Given the description of an element on the screen output the (x, y) to click on. 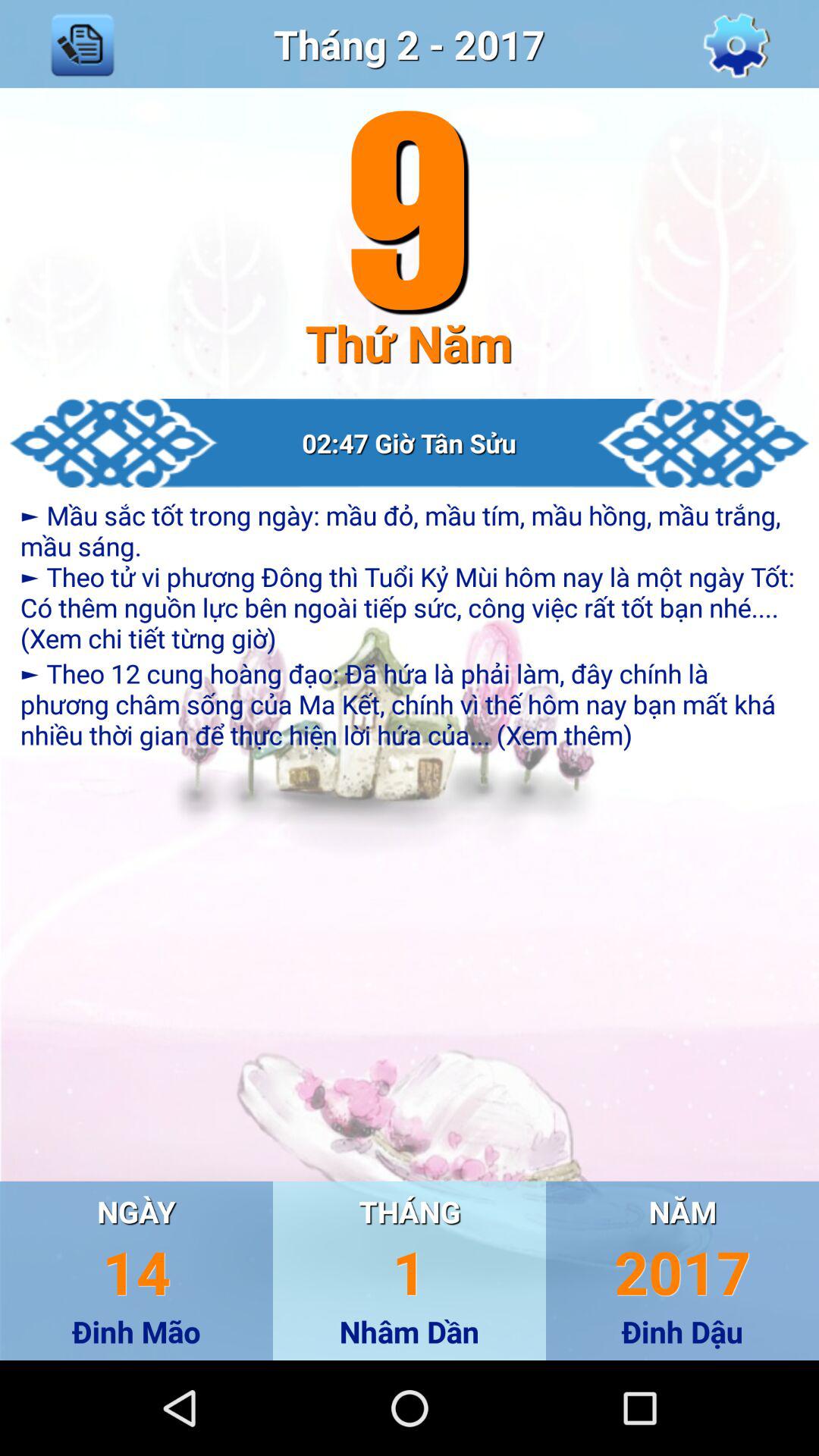
move to top middle (409, 43)
select the option settings on the top (736, 43)
three lines of text starting with text theo (409, 704)
select the option which is left to the top left corner (81, 44)
